Given the description of an element on the screen output the (x, y) to click on. 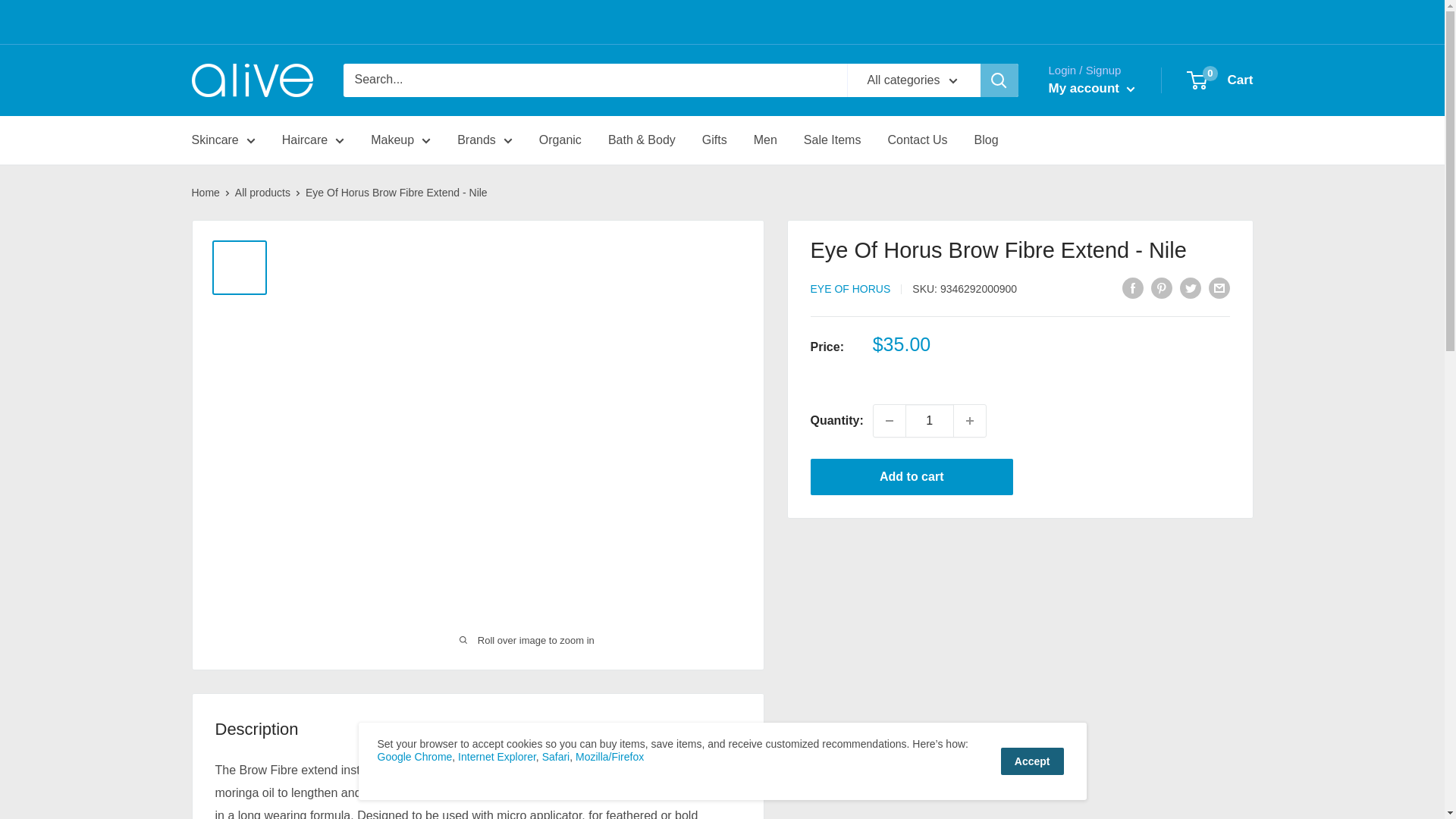
1 (929, 420)
Decrease quantity by 1 (889, 420)
Increase quantity by 1 (969, 420)
Customer reviews powered by Trustpilot (304, 22)
